Given the description of an element on the screen output the (x, y) to click on. 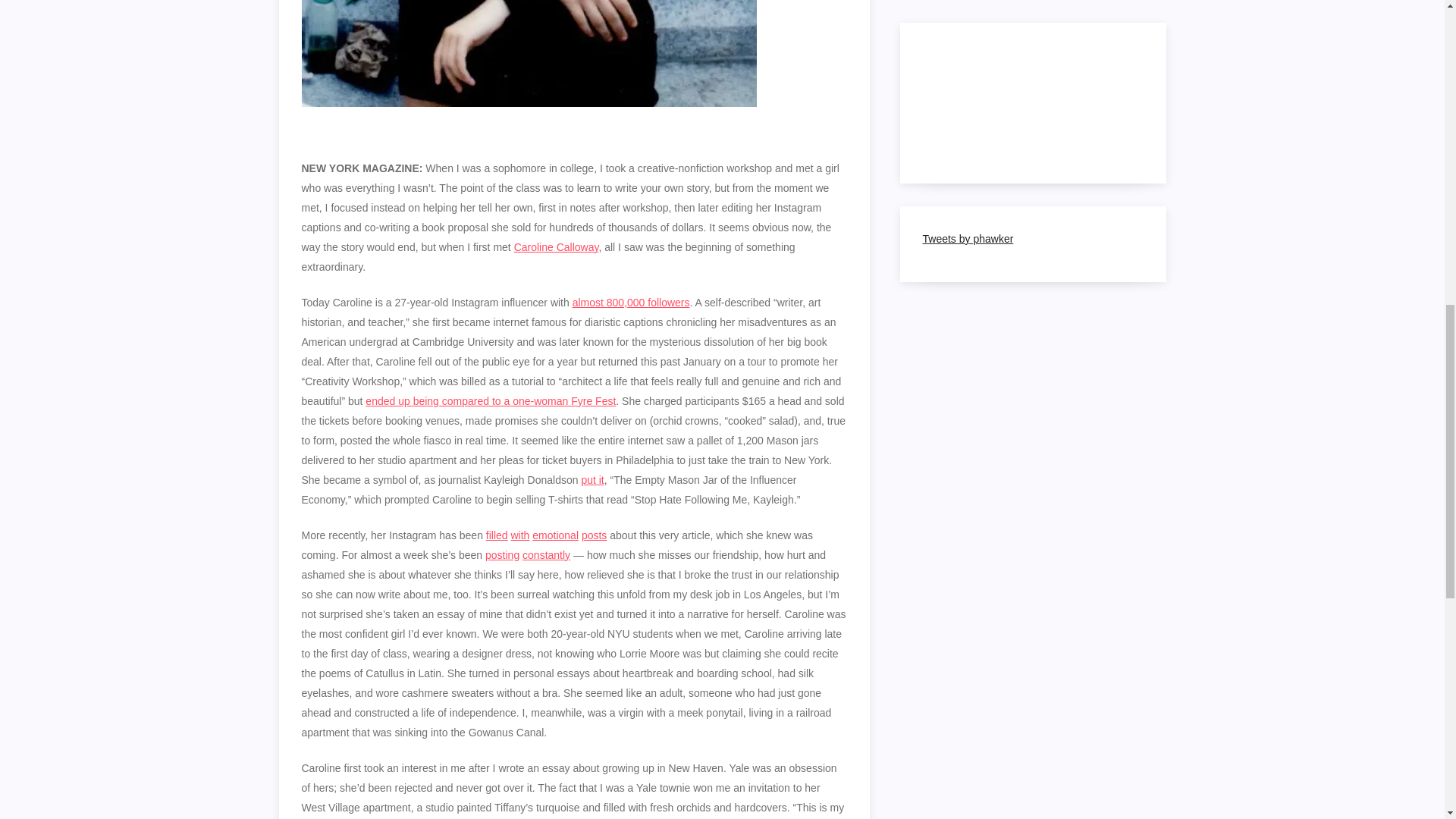
posting (501, 554)
with (520, 535)
almost 800,000 followers (631, 302)
filled (497, 535)
emotional (555, 535)
Caroline Calloway (555, 246)
ended up being compared to a one-woman Fyre Fest (490, 400)
constantly (546, 554)
posts (593, 535)
put it (592, 480)
